Given the description of an element on the screen output the (x, y) to click on. 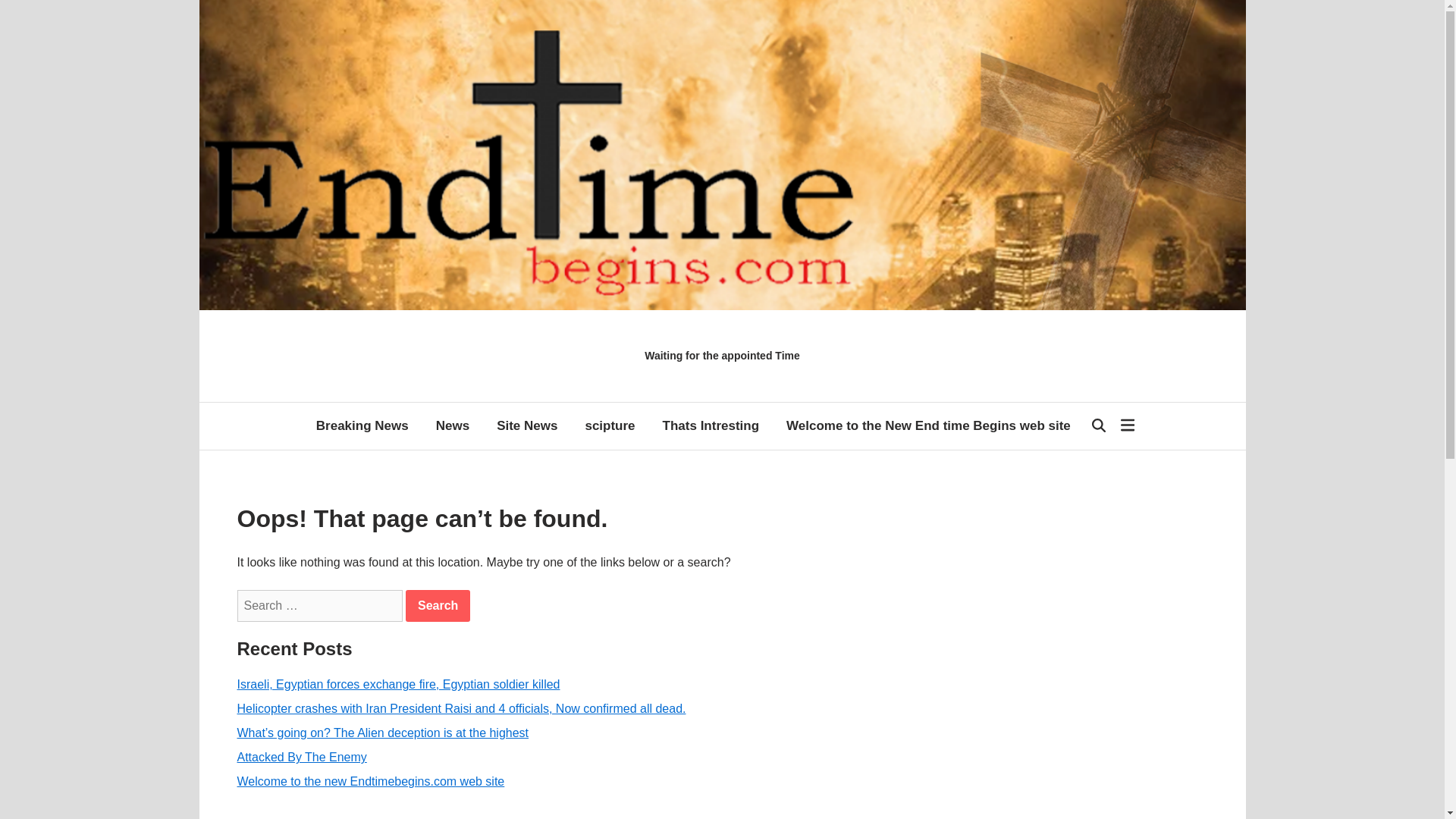
News (452, 425)
scipture (608, 425)
Welcome to the new Endtimebegins.com web site (369, 780)
Search (438, 605)
Search (438, 605)
Search (438, 605)
Site News (526, 425)
Breaking News (362, 425)
